Given the description of an element on the screen output the (x, y) to click on. 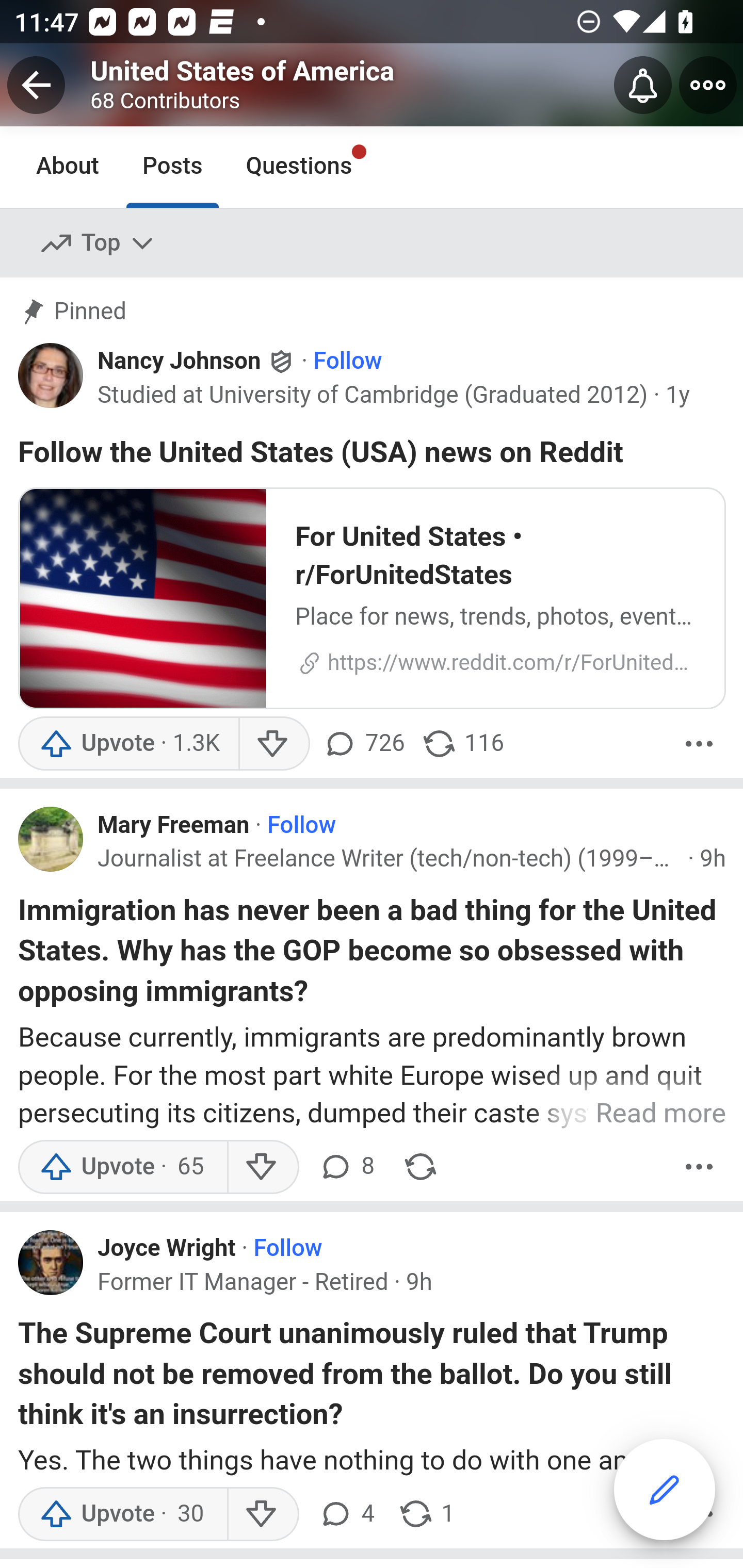
About (68, 166)
Posts (171, 166)
Questions (299, 166)
Top (97, 244)
Profile photo for Nancy Johnson (50, 376)
Nancy Johnson Nancy Johnson   (196, 362)
Follow (347, 362)
Upvote (127, 744)
Downvote (273, 744)
726 comments (365, 744)
116 shares (461, 744)
More (699, 744)
Profile photo for Mary Freeman (50, 839)
Mary Freeman (174, 827)
Follow (302, 827)
Upvote (122, 1166)
Downvote (262, 1166)
8 comments (346, 1166)
Share (420, 1166)
More (699, 1166)
Profile photo for Joyce Wright (50, 1262)
Joyce Wright (166, 1249)
Follow (287, 1249)
Upvote (122, 1513)
Downvote (262, 1513)
4 comments (346, 1513)
1 share (425, 1513)
